Given the description of an element on the screen output the (x, y) to click on. 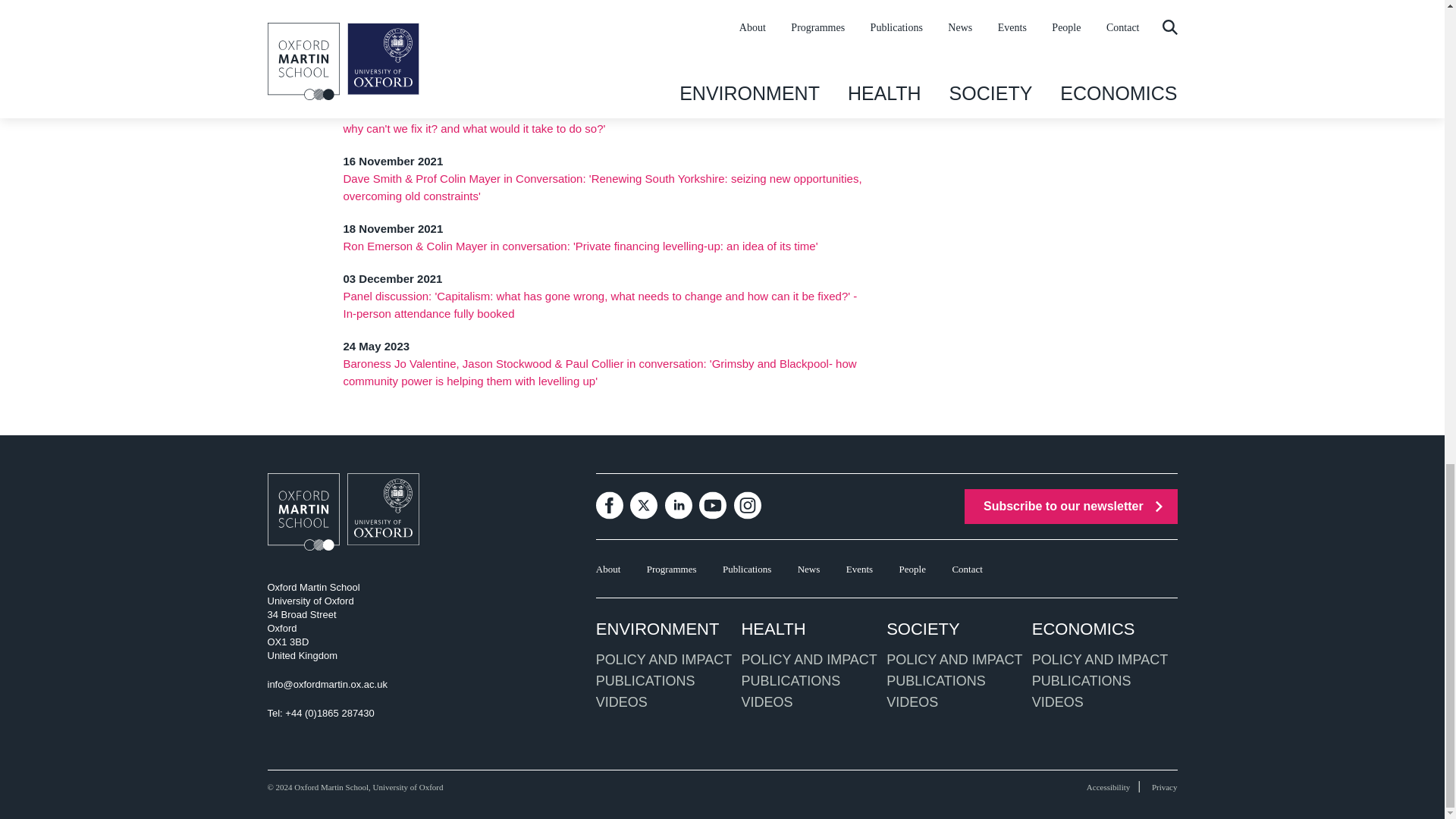
More on this event (601, 186)
More on this event (599, 372)
More on this event (579, 245)
More on this event (602, 60)
More on this event (601, 119)
More on this event (599, 304)
